Given the description of an element on the screen output the (x, y) to click on. 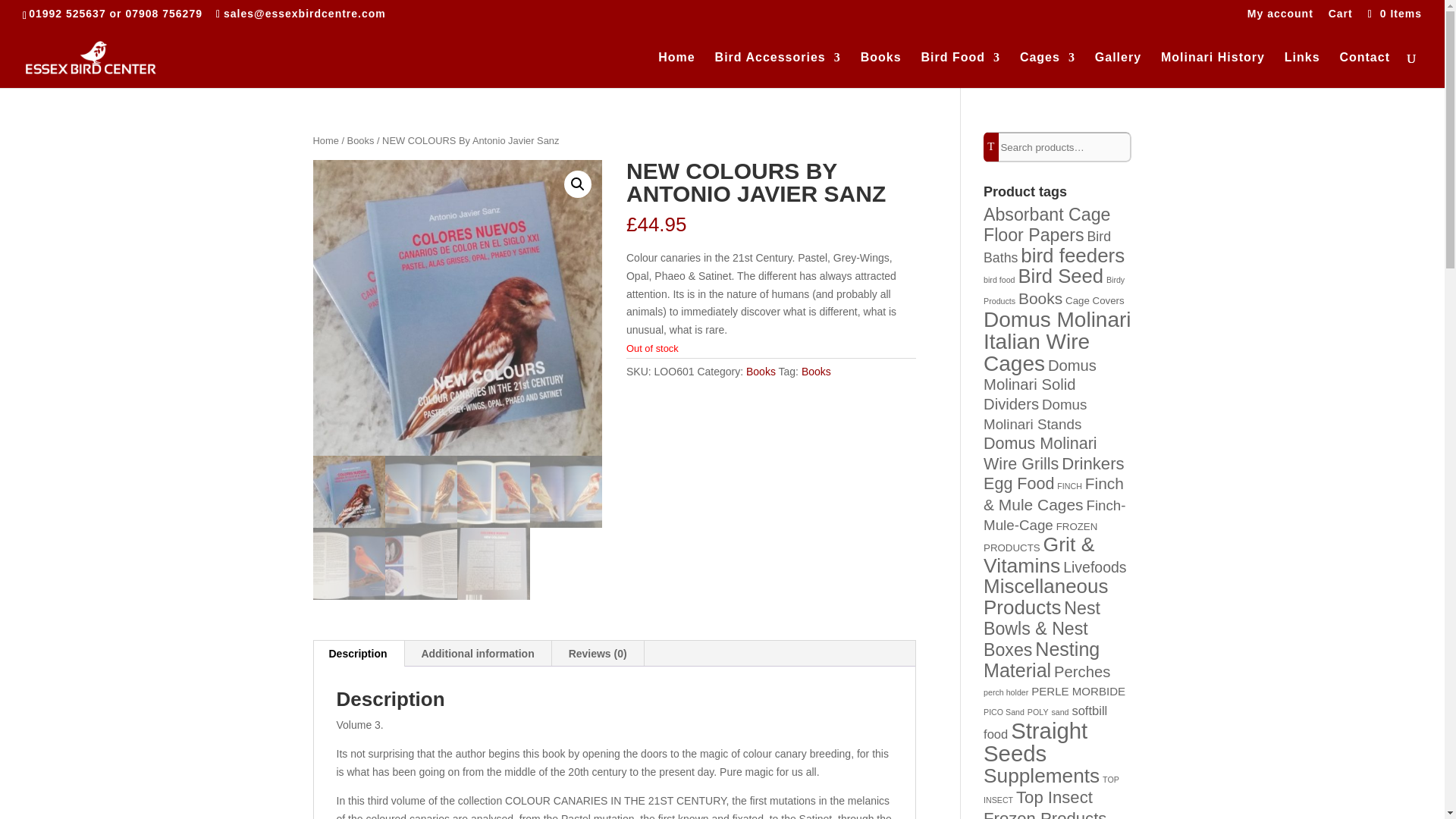
Links (1302, 69)
0 Items (1393, 13)
Gallery (1117, 69)
Books (880, 69)
Molinari History (1212, 69)
Cart (1339, 16)
Bird Food (960, 69)
Bird Accessories (777, 69)
Cages (1047, 69)
Home (676, 69)
